Given the description of an element on the screen output the (x, y) to click on. 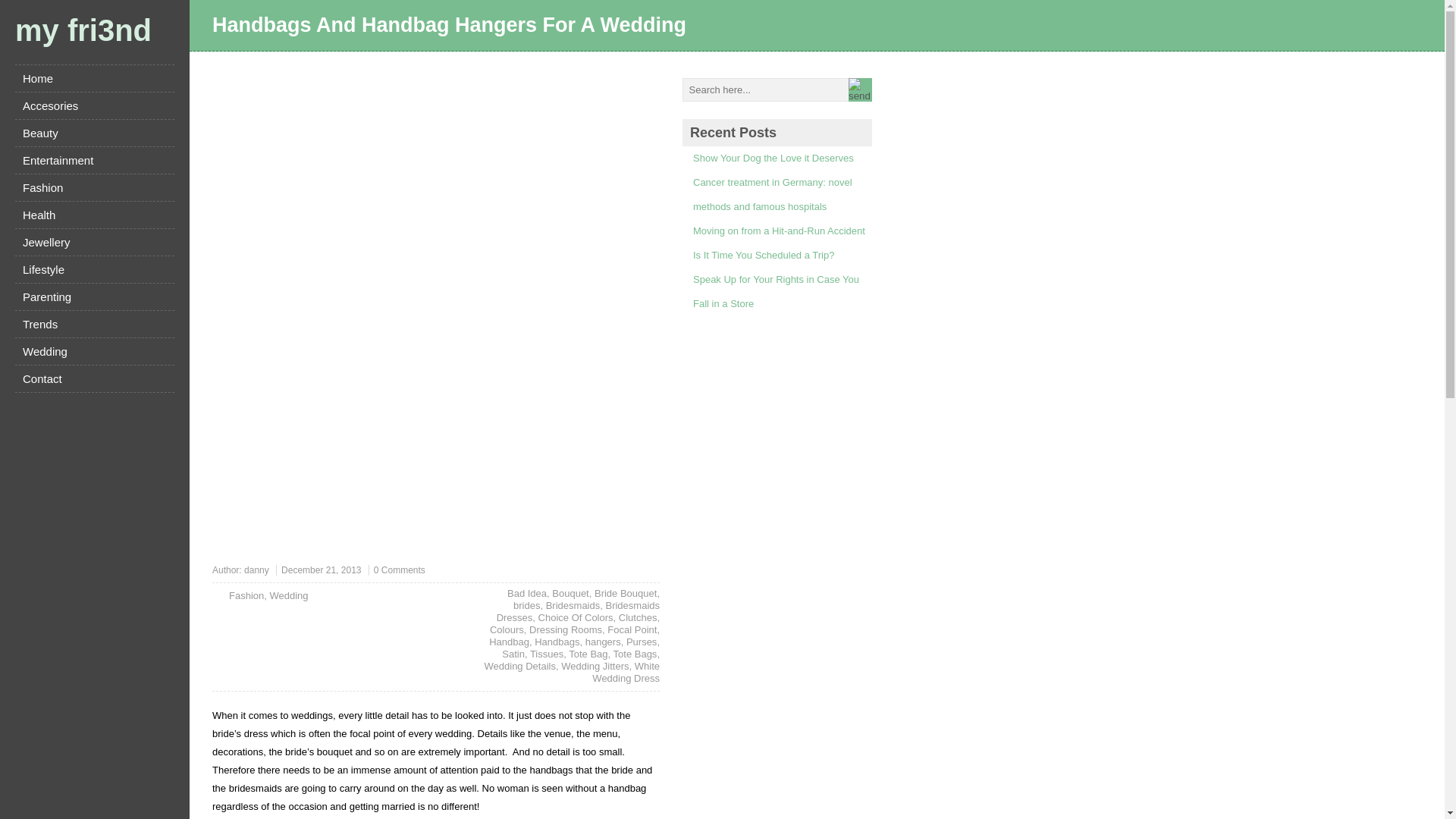
Lifestyle (94, 269)
0 Comments (399, 570)
Wedding Jitters (594, 665)
Beauty (94, 132)
Tote Bag (588, 654)
Dressing Rooms (565, 629)
Entertainment (94, 160)
Bridesmaids Dresses (577, 611)
Satin (513, 654)
Home (94, 78)
